Given the description of an element on the screen output the (x, y) to click on. 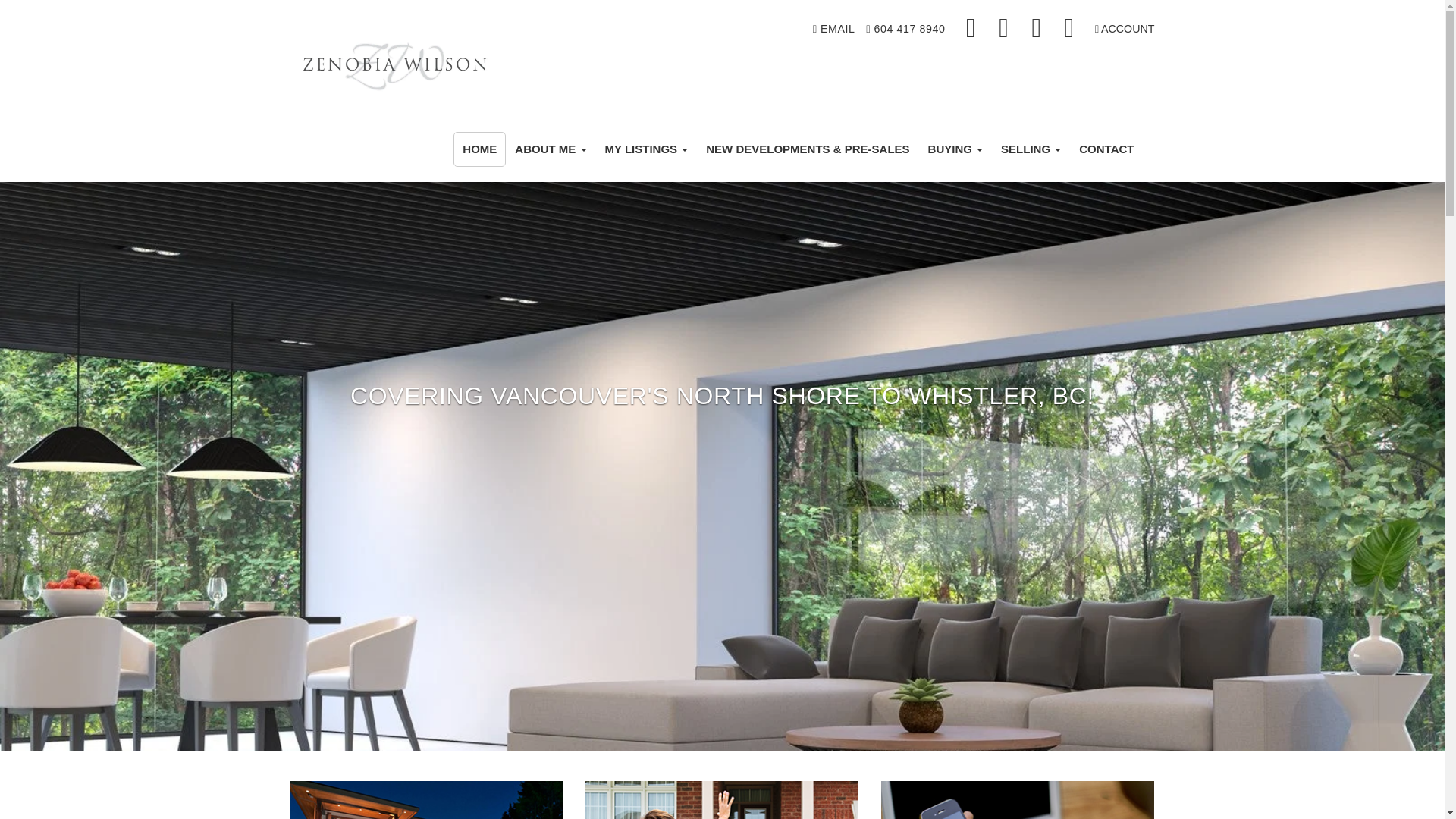
BUYING (955, 149)
Instagram (1005, 28)
MY LISTINGS (646, 149)
EMAIL (834, 28)
CONTACT (1106, 149)
Facebook (972, 28)
604 417 8940 (905, 28)
LinkedIn (1038, 28)
HOME (478, 149)
SELLING (1030, 149)
ACCOUNT (1124, 28)
ABOUT ME (550, 149)
